Given the description of an element on the screen output the (x, y) to click on. 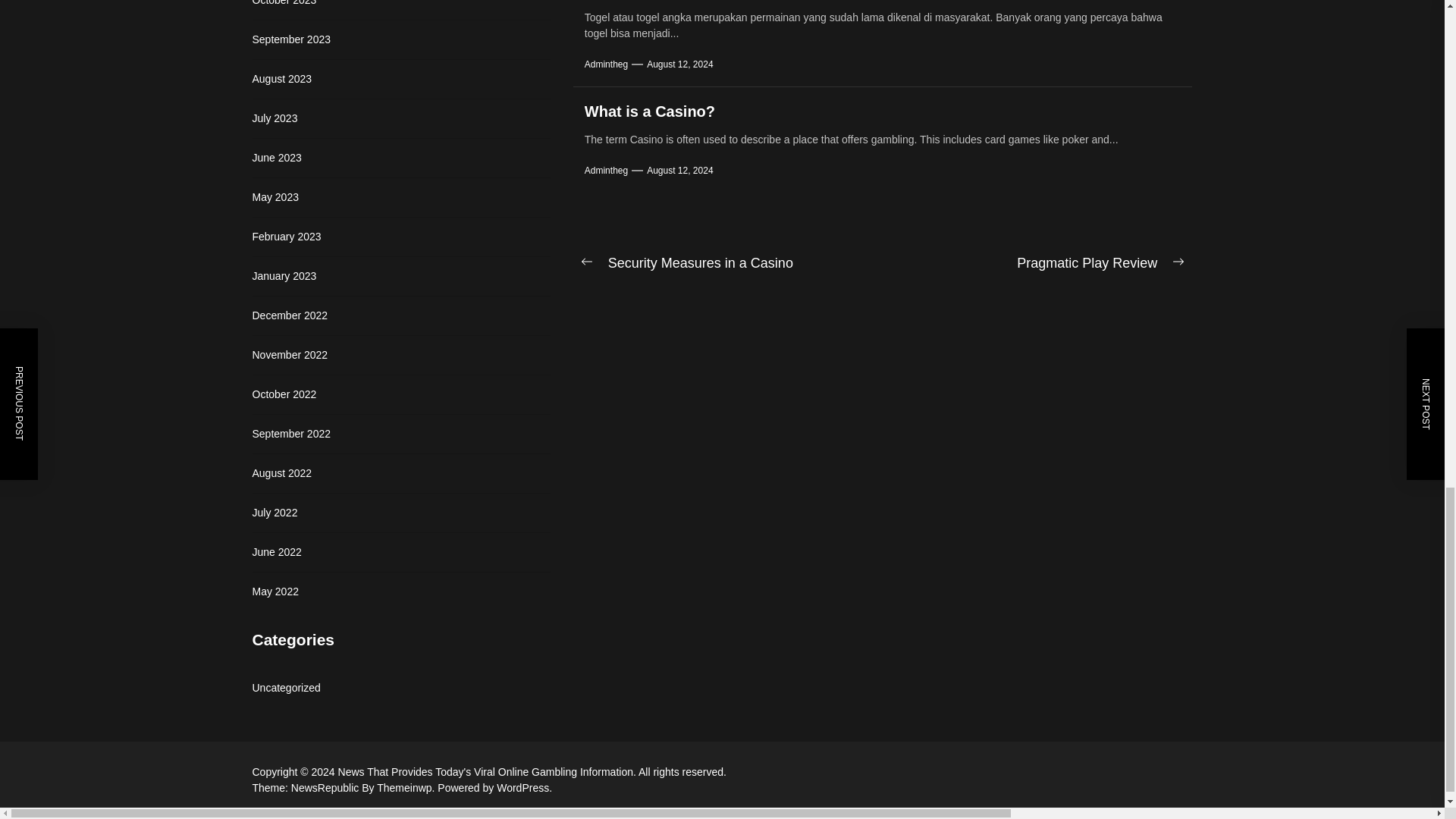
News That Provides Today's Viral Online Gambling Information (488, 771)
Themeinwp (407, 787)
WordPress (523, 787)
